Given the description of an element on the screen output the (x, y) to click on. 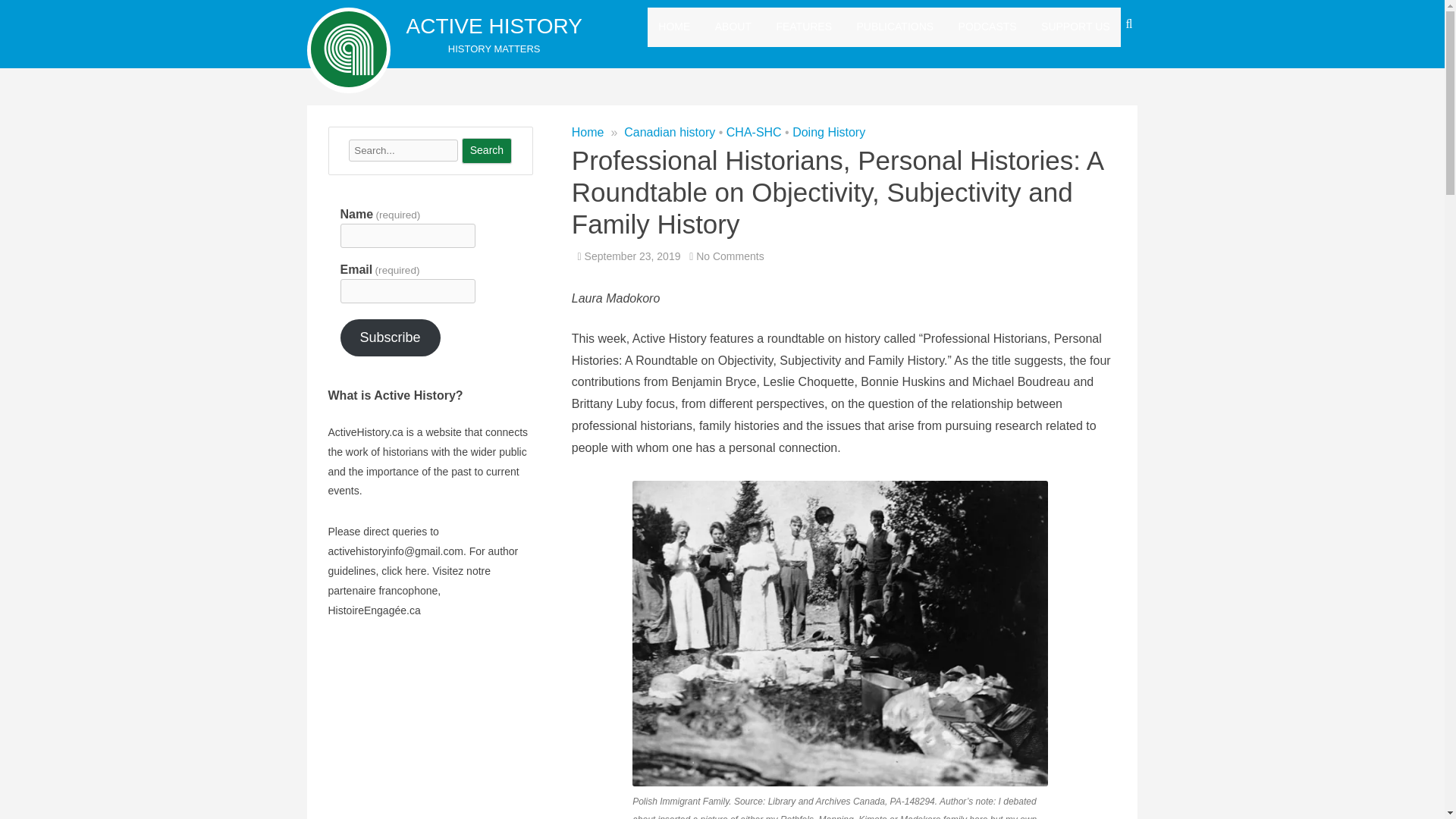
ABOUT (732, 26)
PUBLICATIONS (895, 26)
CHA-SHC (753, 132)
Home (588, 132)
Active History (494, 26)
FEATURES (803, 26)
Canadian history (669, 132)
SUPPORT US (1075, 26)
Search (486, 150)
Doing History (828, 132)
